Given the description of an element on the screen output the (x, y) to click on. 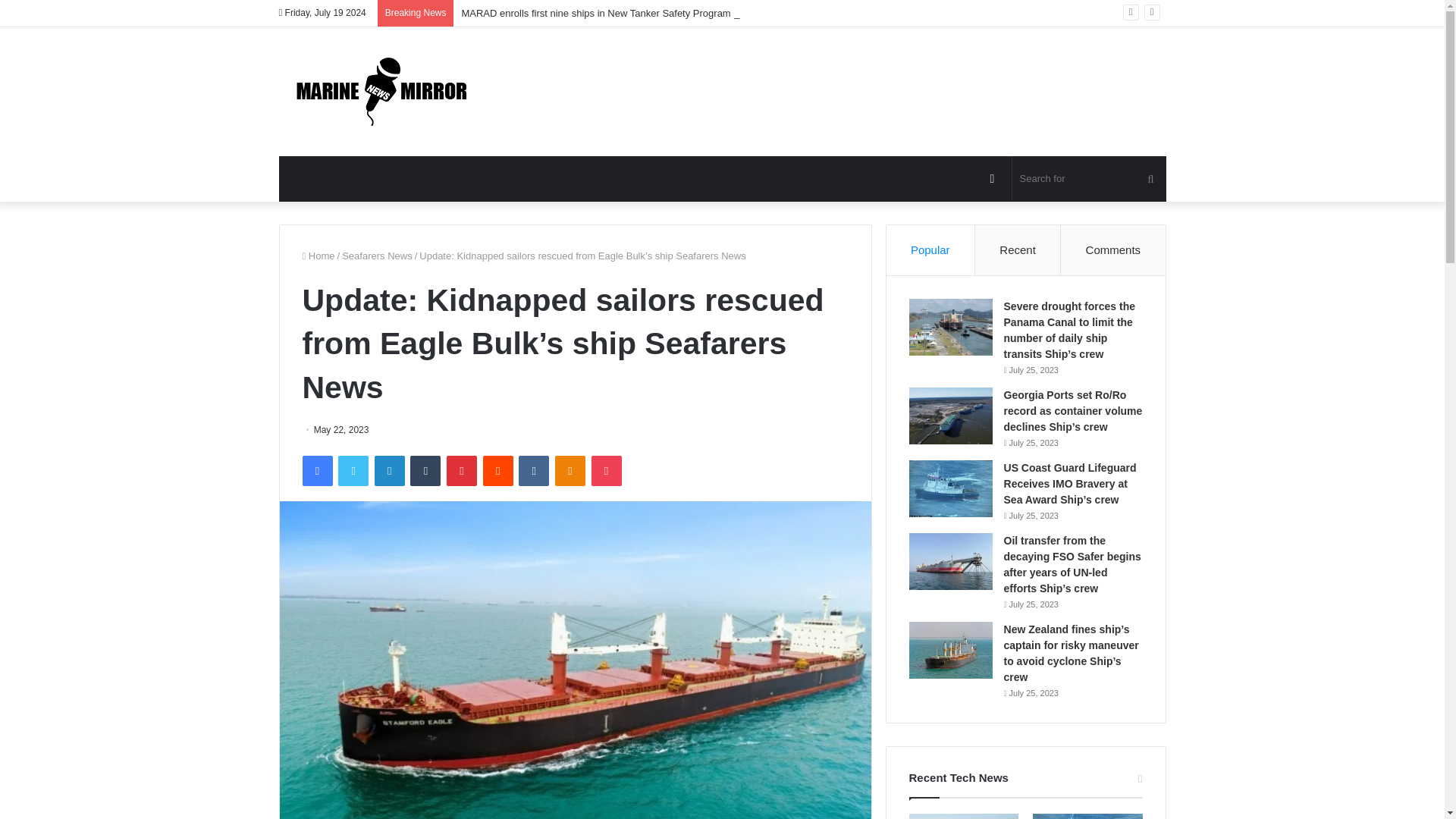
Reddit (498, 470)
Tumblr (425, 470)
Switch skin (992, 178)
Pocket (606, 470)
Seafarers News (377, 255)
Home (317, 255)
Odnoklassniki (569, 470)
Search for (1088, 178)
Search for (1150, 178)
VKontakte (533, 470)
Facebook (316, 470)
Twitter (352, 470)
VKontakte (533, 470)
Pinterest (461, 470)
Reddit (498, 470)
